Given the description of an element on the screen output the (x, y) to click on. 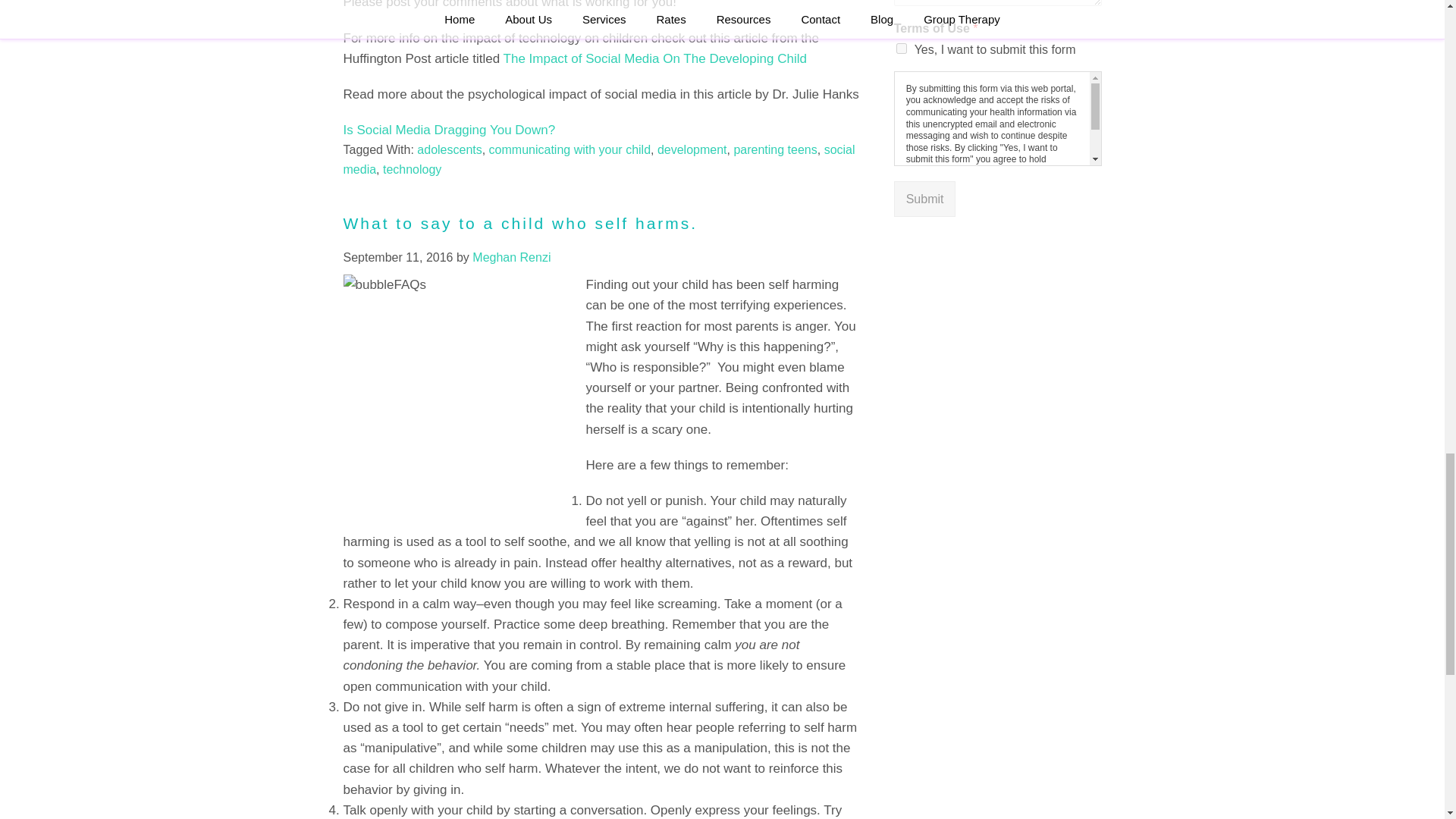
Yes, I want to submit this form (901, 48)
technology (411, 169)
adolescents (448, 149)
parenting teens (774, 149)
development (692, 149)
What to say to a child who self harms. (519, 222)
The Impact of Social Media On The Developing Child (654, 58)
Is Social Media Dragging You Down? (448, 129)
Meghan Renzi (510, 256)
social media (598, 159)
communicating with your child (569, 149)
